Given the description of an element on the screen output the (x, y) to click on. 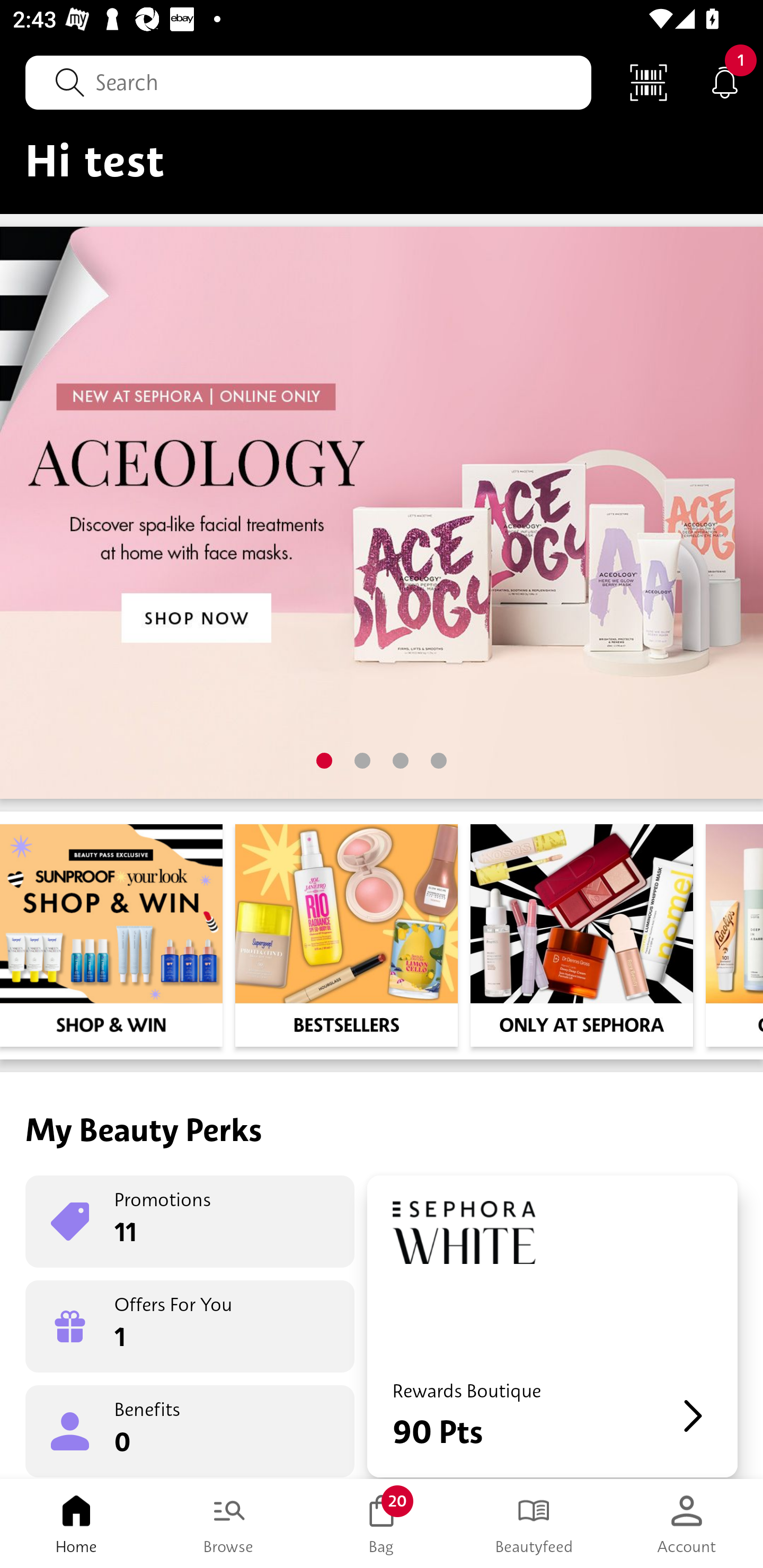
Scan Code (648, 81)
Notifications (724, 81)
Search (308, 81)
Browse (228, 1523)
Bag 20 Bag (381, 1523)
Beautyfeed (533, 1523)
Account (686, 1523)
